Given the description of an element on the screen output the (x, y) to click on. 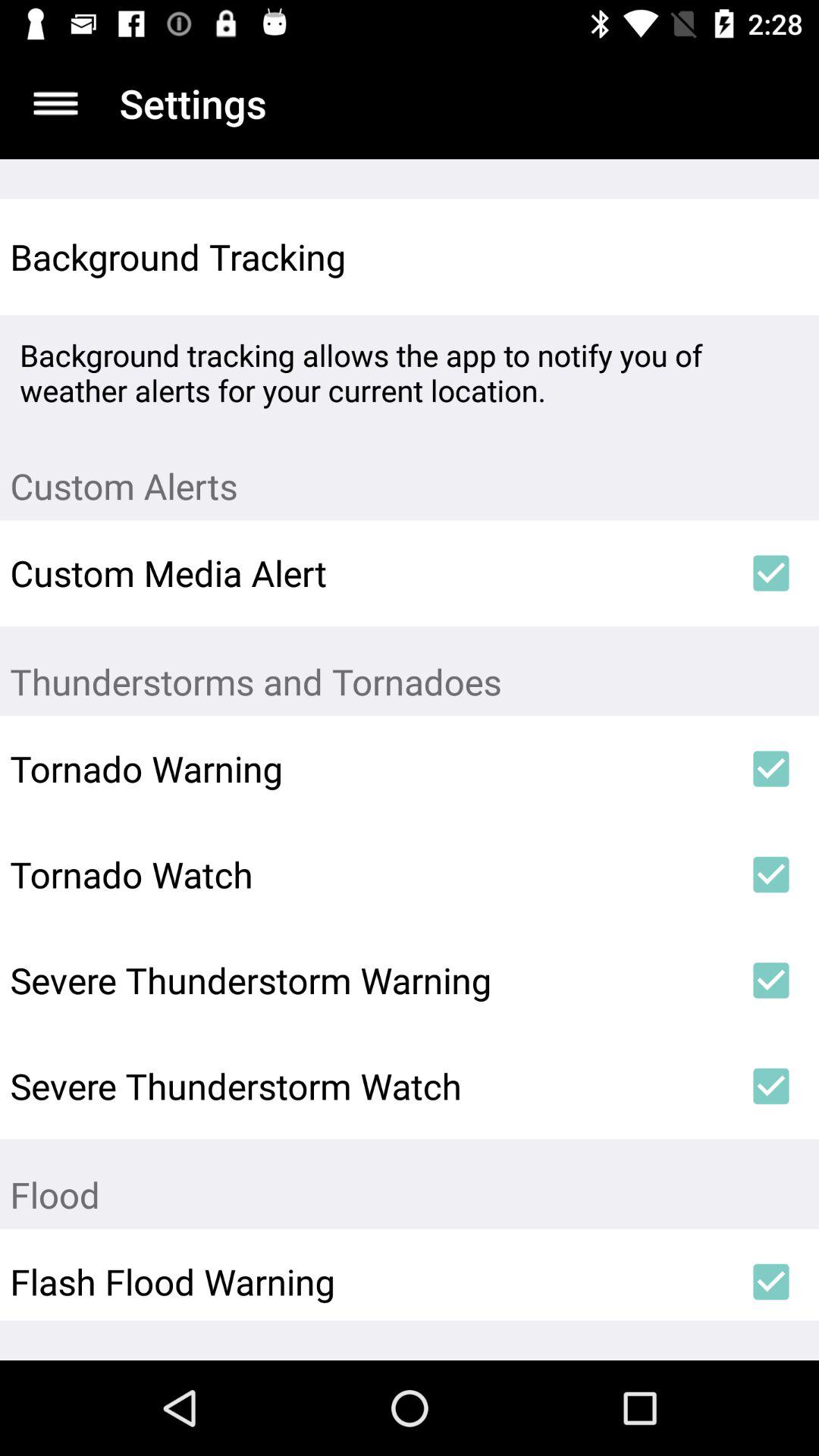
tap the item next to settings (55, 103)
